Given the description of an element on the screen output the (x, y) to click on. 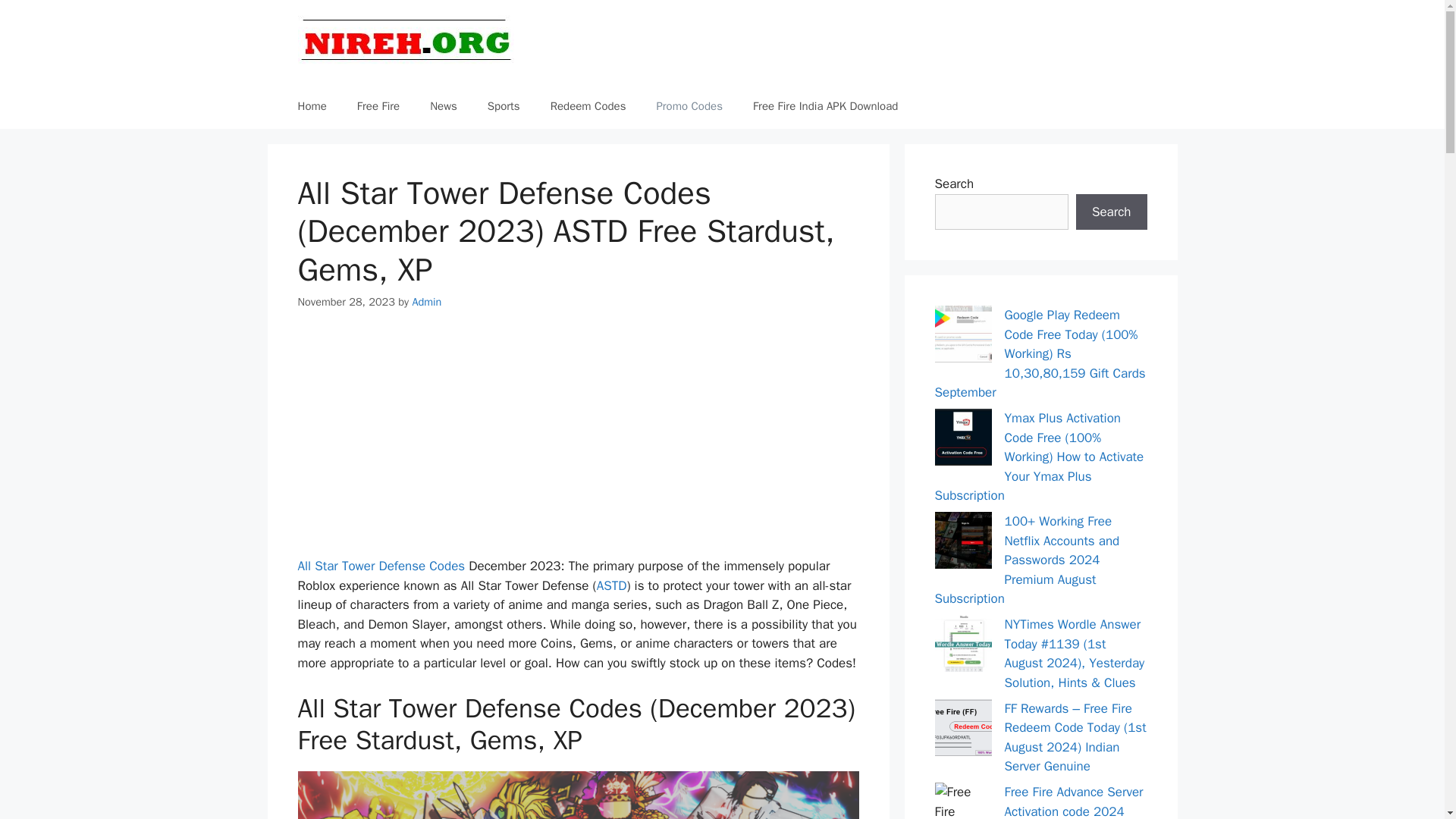
Free Fire (378, 105)
Promo Codes (688, 105)
Search (1111, 212)
Home (311, 105)
Admin (426, 301)
News (442, 105)
Redeem Codes (588, 105)
Free Fire India APK Download (825, 105)
View all posts by Admin (426, 301)
Sports (503, 105)
